Given the description of an element on the screen output the (x, y) to click on. 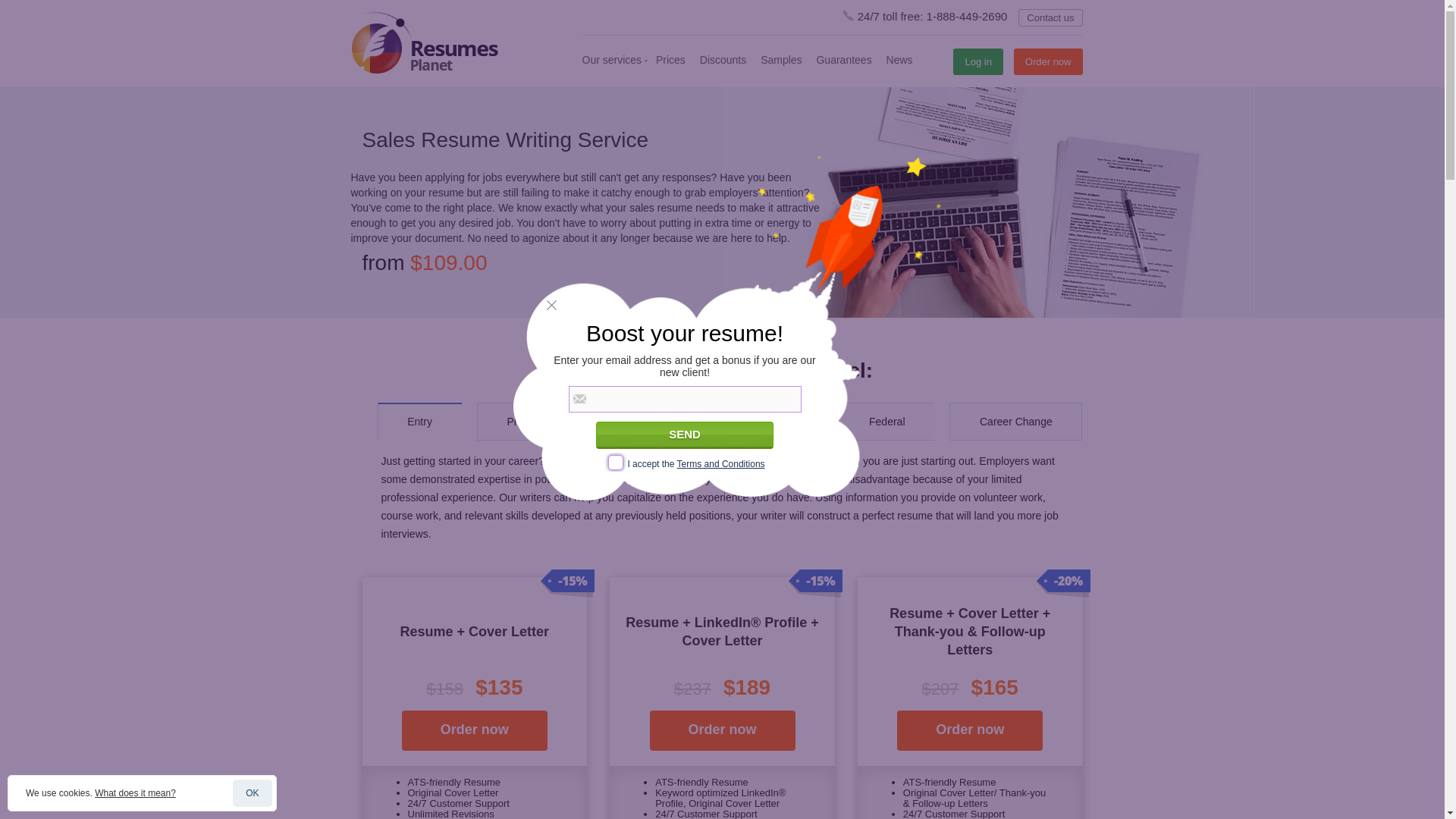
Guarantees (842, 60)
We use cookies to improve your experience with our site (135, 792)
Discounts (722, 60)
News (899, 60)
Log in (978, 61)
Contact us (1049, 17)
Military (777, 421)
Entry (419, 421)
Order now (1048, 61)
Our services (612, 60)
Order now (474, 730)
Professional (536, 421)
Prices (670, 60)
Samples (781, 60)
Career Change (1015, 421)
